Given the description of an element on the screen output the (x, y) to click on. 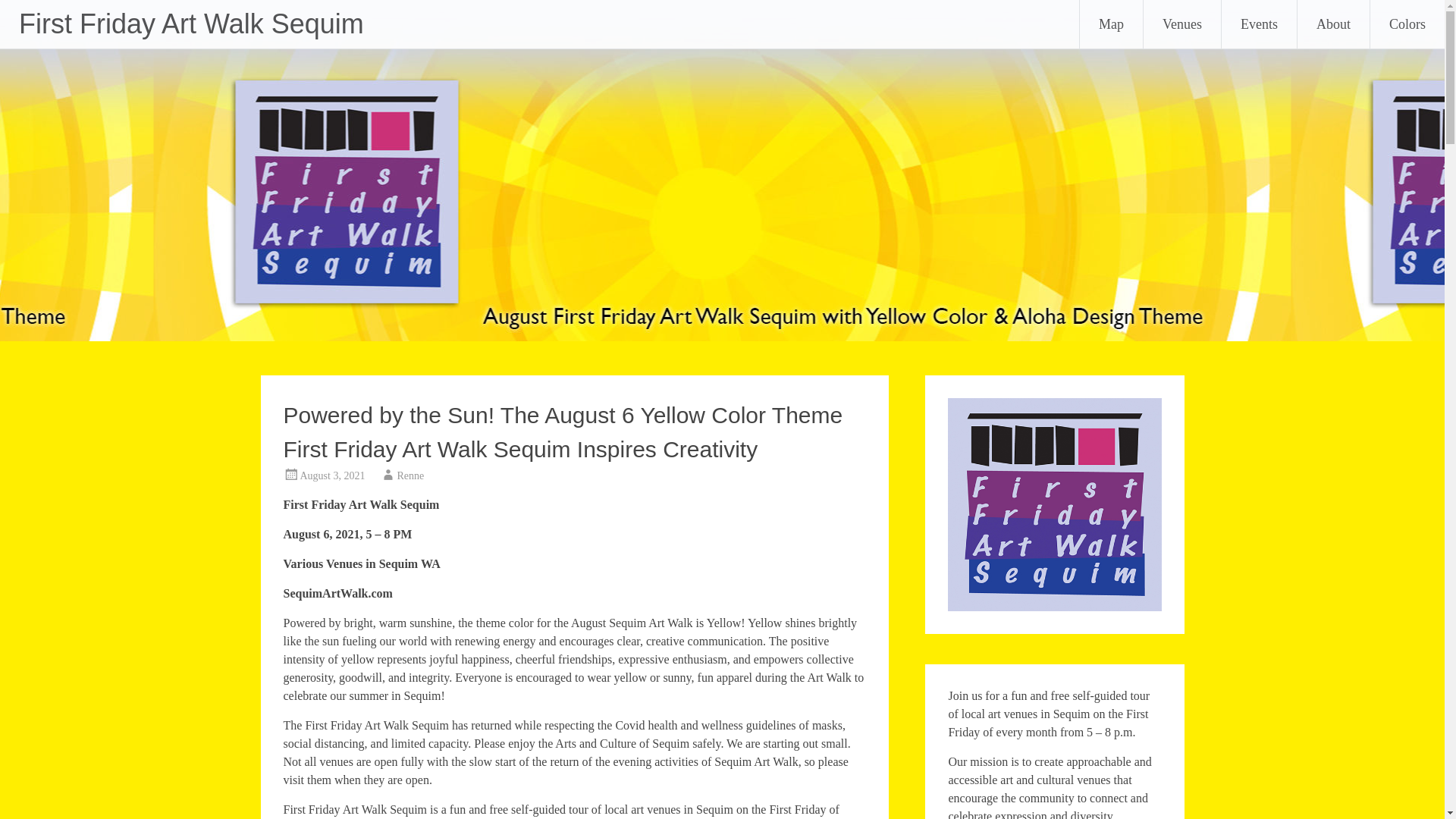
Search (26, 12)
August 3, 2021 (332, 475)
Venues (1181, 24)
First Friday Art Walk Sequim (191, 23)
First Friday Art Walk Sequim (191, 23)
Events (1259, 24)
Renne (409, 475)
About (1333, 24)
Map (1111, 24)
